Given the description of an element on the screen output the (x, y) to click on. 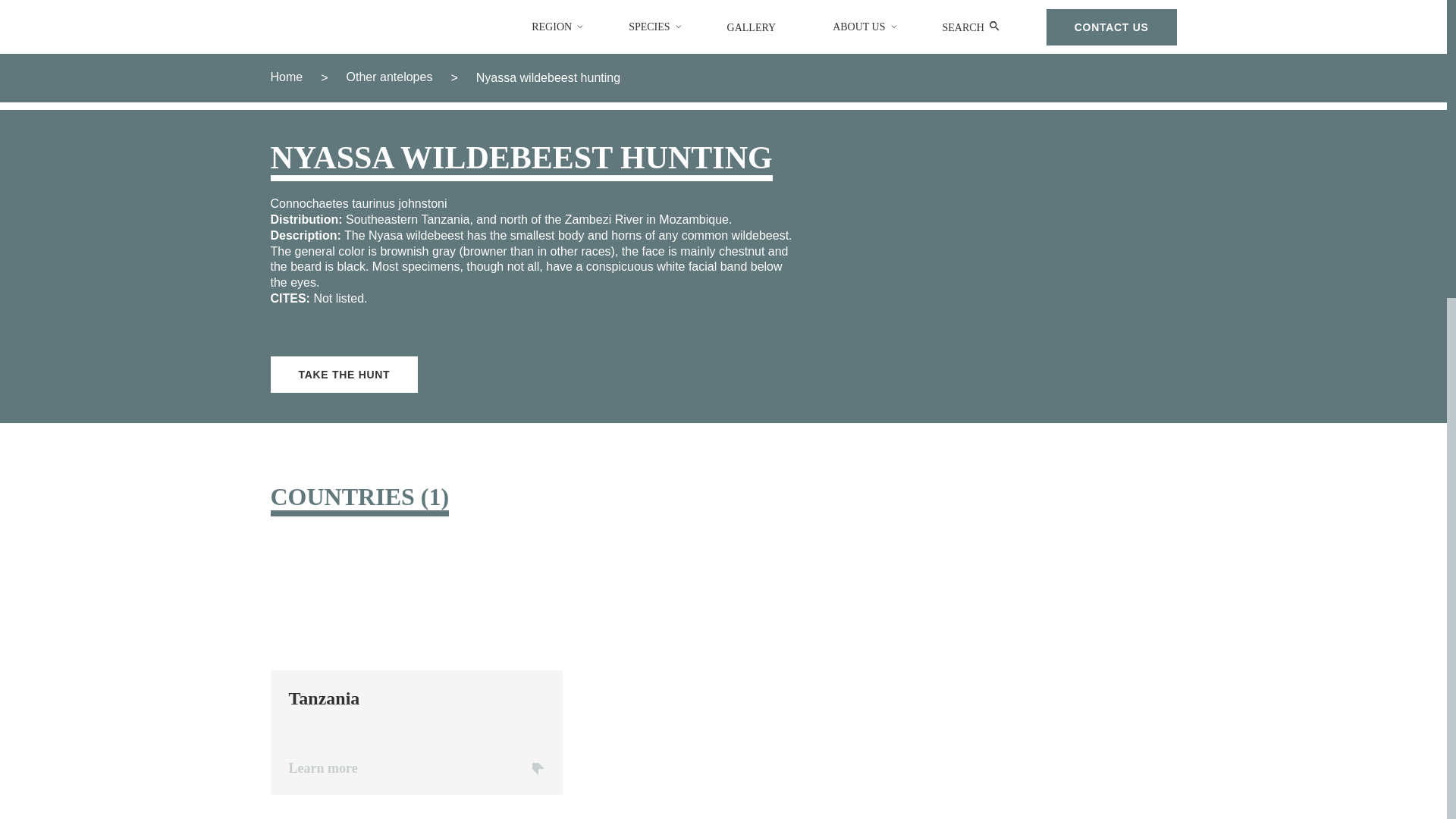
Other antelopes (389, 77)
Home (285, 77)
GALLERY (415, 670)
SEARCH (756, 26)
TAKE THE HUNT (971, 26)
